Given the description of an element on the screen output the (x, y) to click on. 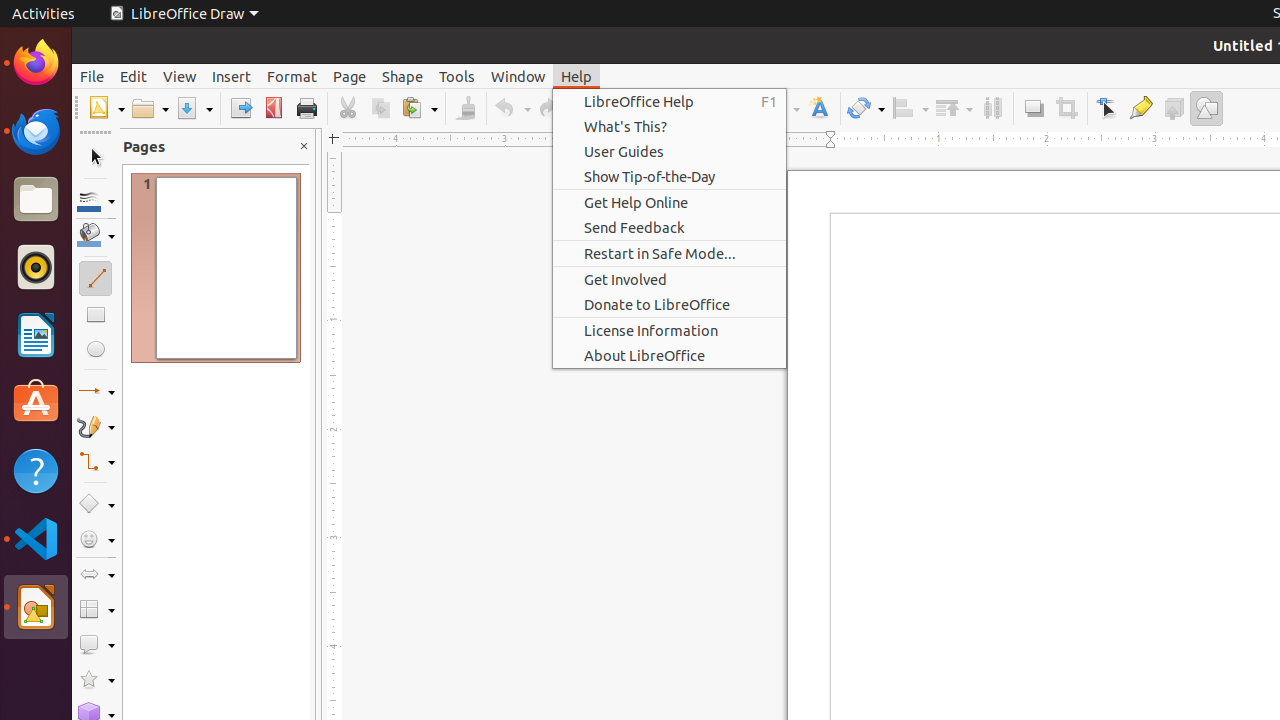
Close Pane Element type: push-button (303, 146)
Save Element type: push-button (194, 108)
Print Element type: push-button (306, 108)
Export Element type: push-button (240, 108)
Open Element type: push-button (150, 108)
